Given the description of an element on the screen output the (x, y) to click on. 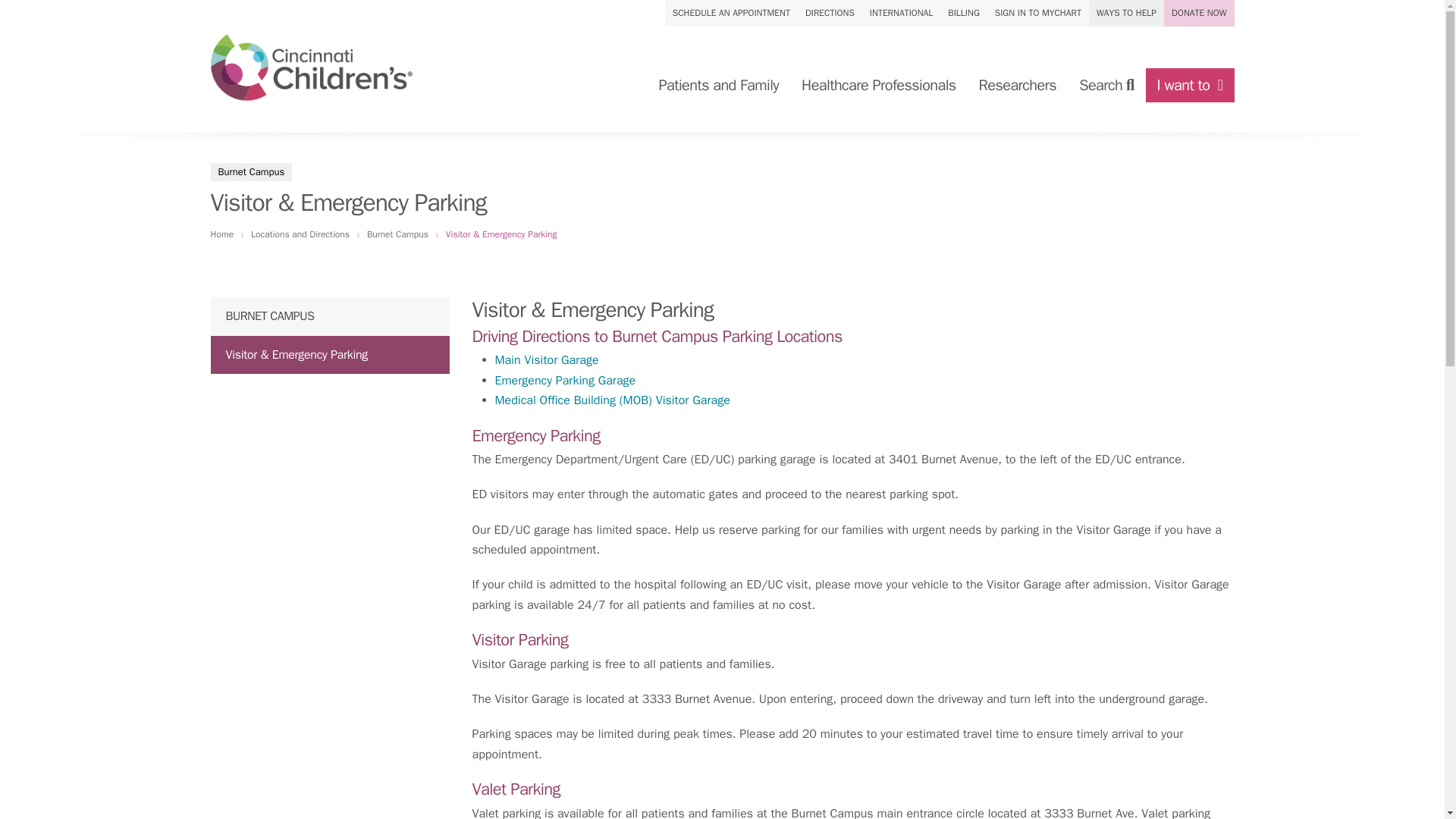
DONATE NOW (1198, 13)
Give now to Cincinnati Children's (1198, 13)
INTERNATIONAL (900, 13)
Resources for international patients.  (900, 13)
SCHEDULE AN APPOINTMENT (731, 13)
Healthcare Professionals (878, 84)
Researchers (1018, 84)
Patients and Family (718, 84)
SIgn in to mychart. (1038, 13)
DIRECTIONS (829, 13)
Pay Your Bill. (963, 13)
Schedule an appointment.  (731, 13)
WAYS TO HELP (1126, 13)
View locations and directions.  (829, 13)
SIGN IN TO MYCHART (1038, 13)
